Given the description of an element on the screen output the (x, y) to click on. 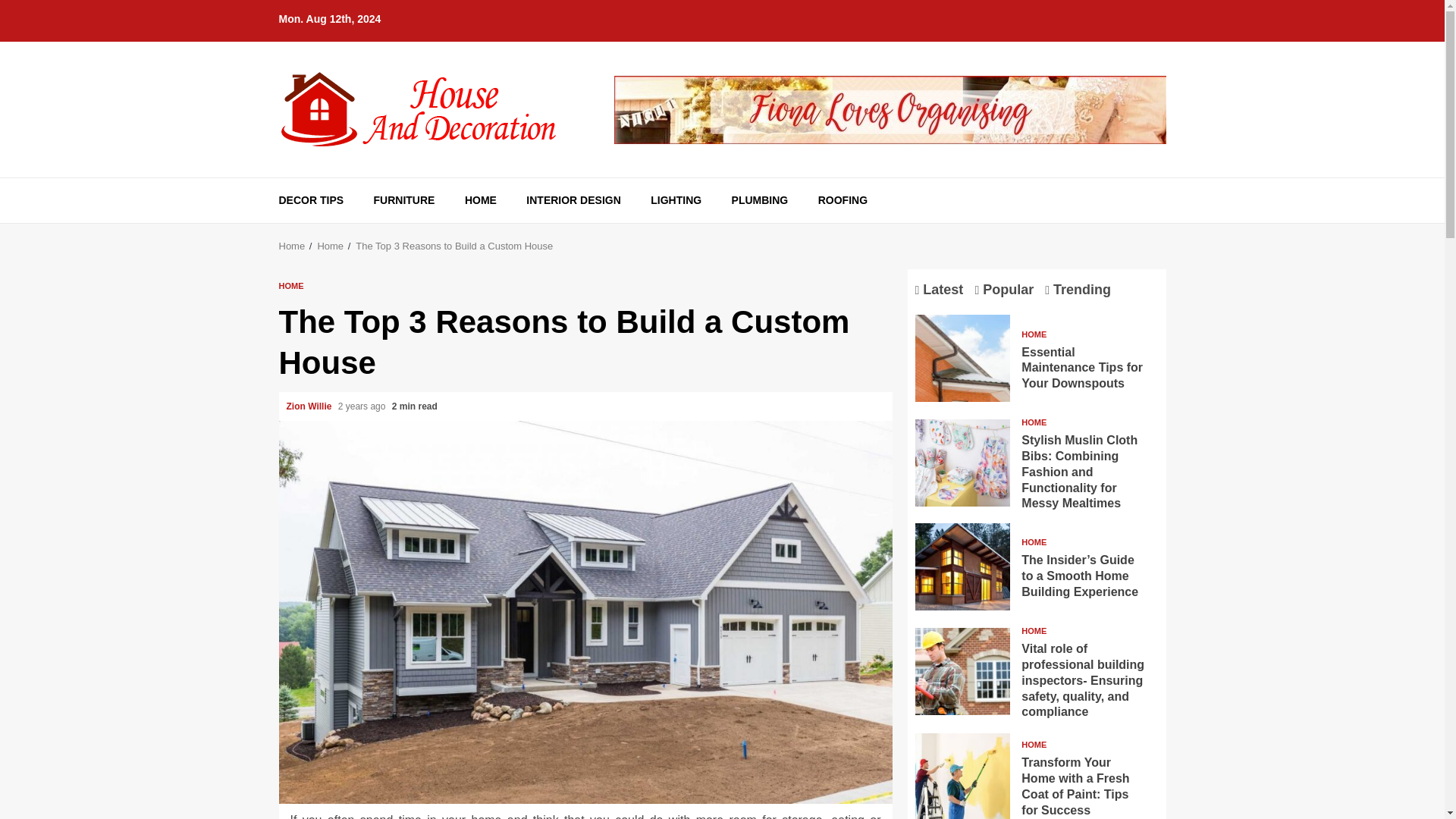
The Top 3 Reasons to Build a Custom House (454, 245)
HOME (480, 200)
Home (330, 245)
LIGHTING (675, 200)
Search (1126, 226)
DECOR TIPS (311, 200)
HOME (291, 285)
Home (292, 245)
Zion Willie (310, 406)
ROOFING (842, 200)
